Given the description of an element on the screen output the (x, y) to click on. 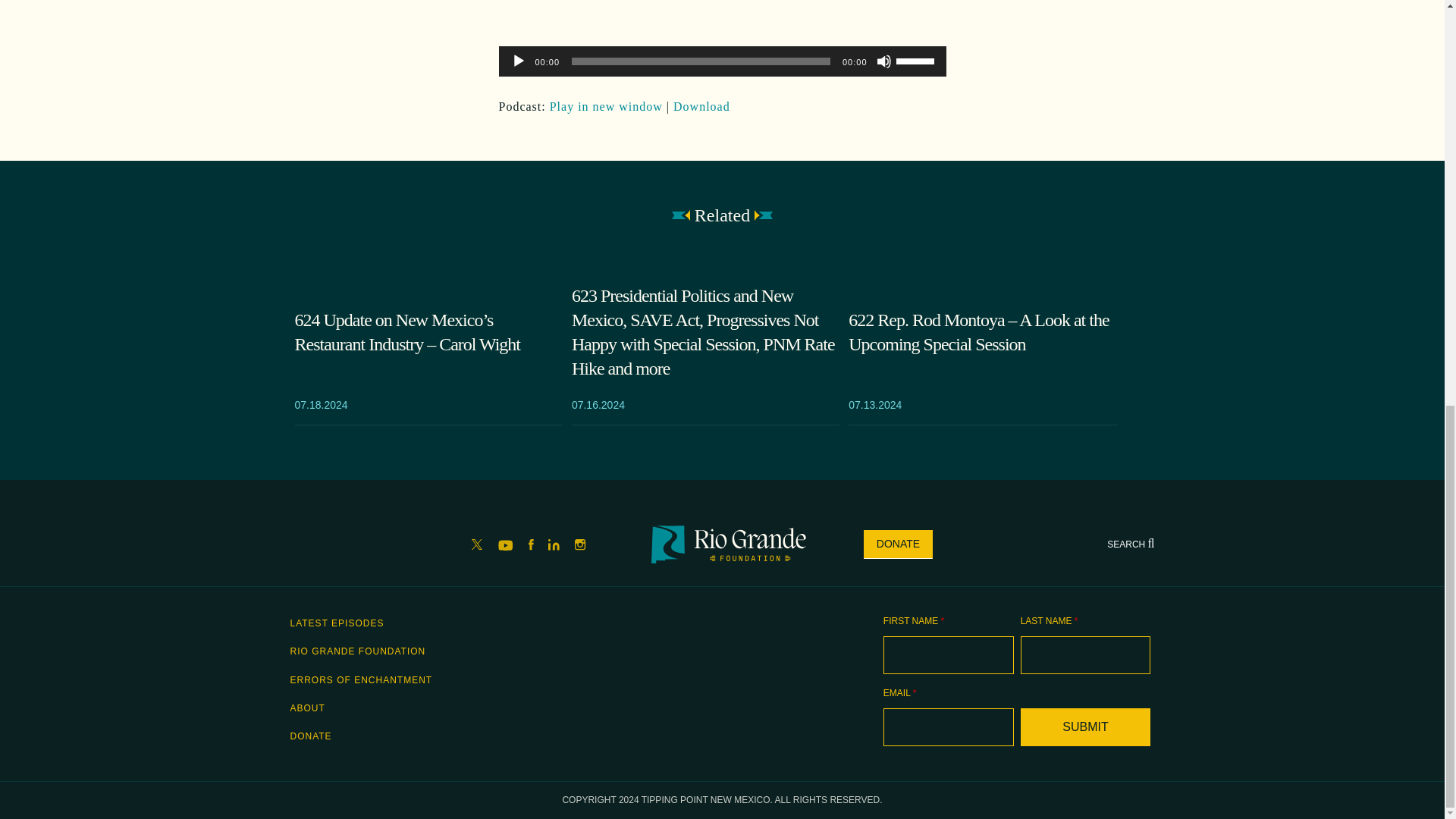
Play in new window (606, 106)
Mute (883, 61)
LATEST EPISODES (336, 623)
SEARCH (1130, 543)
Download (701, 106)
Submit (1085, 727)
DONATE (898, 543)
Play (518, 61)
Download (701, 106)
RIO GRANDE FOUNDATION (357, 651)
Play in new window (606, 106)
